Given the description of an element on the screen output the (x, y) to click on. 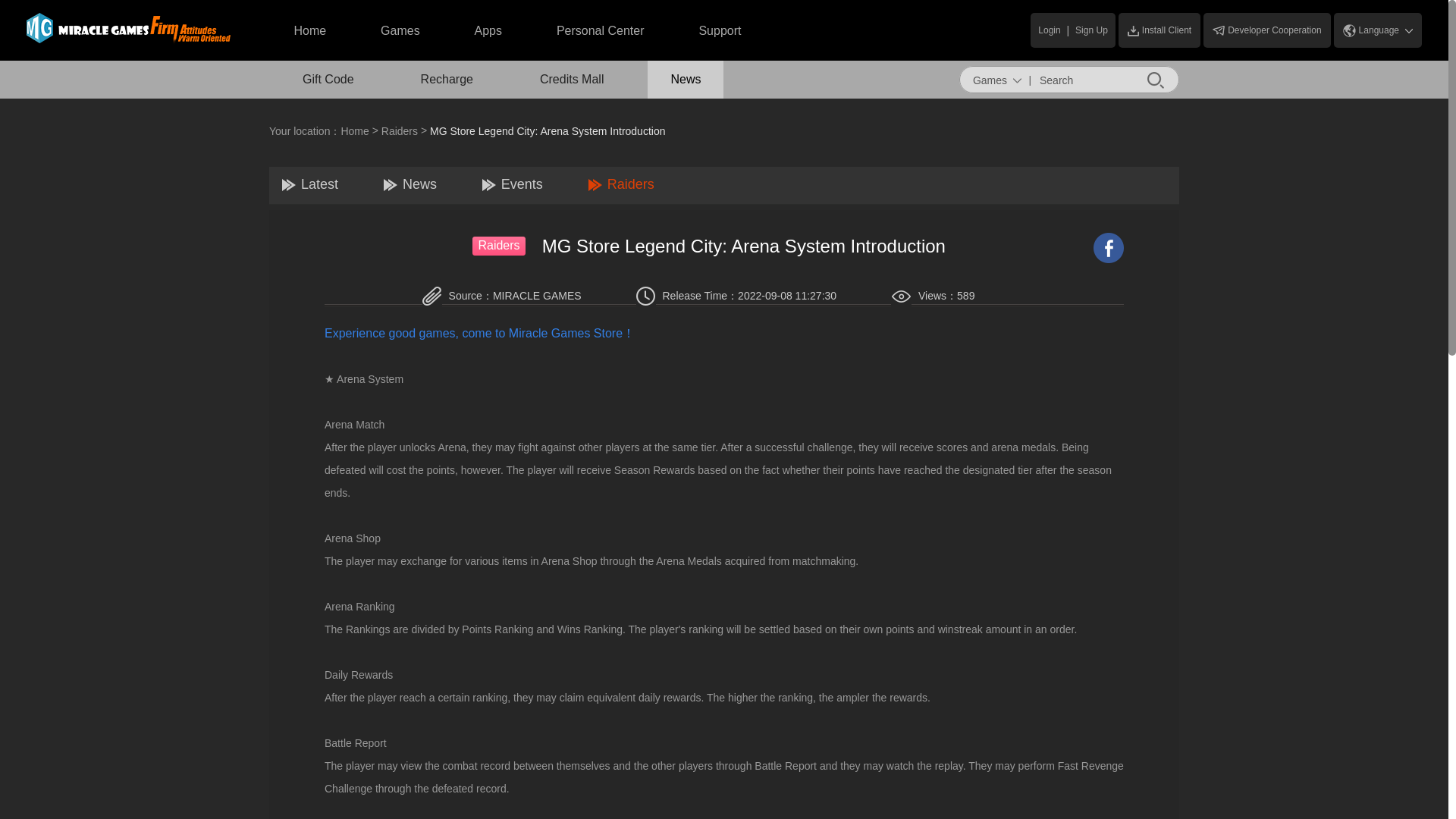
Support (719, 30)
Raiders (400, 131)
Recharge (446, 79)
News (685, 79)
Apps (487, 30)
Events (512, 184)
Developer Cooperation (1267, 30)
Credits Mall (571, 79)
Latest (309, 184)
Home (309, 30)
News (409, 184)
Sign Up (1093, 30)
Personal Center (600, 30)
Login (1046, 30)
Home (354, 131)
